Given the description of an element on the screen output the (x, y) to click on. 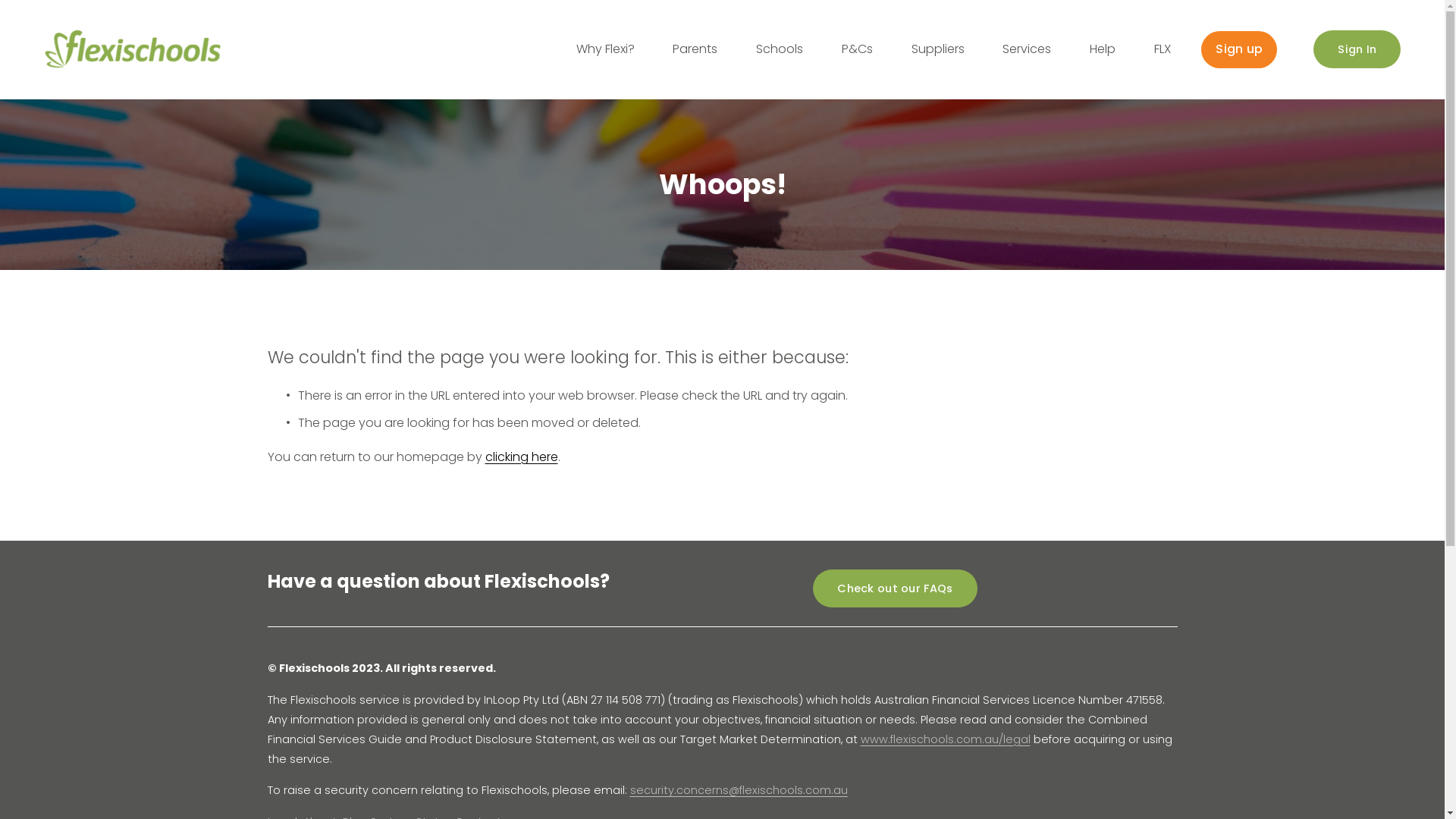
Help Element type: text (1102, 49)
P&Cs Element type: text (857, 49)
Services Element type: text (1026, 49)
Sign In Element type: text (1356, 49)
Sign up Element type: text (1239, 49)
FLX Element type: text (1162, 49)
Schools Element type: text (779, 49)
Check out our FAQs Element type: text (894, 588)
Why Flexi? Element type: text (605, 49)
security.concerns@flexischools.com.au Element type: text (738, 790)
www.flexischools.com.au/legal Element type: text (944, 739)
Parents Element type: text (694, 49)
clicking here Element type: text (521, 456)
Suppliers Element type: text (937, 49)
